Given the description of an element on the screen output the (x, y) to click on. 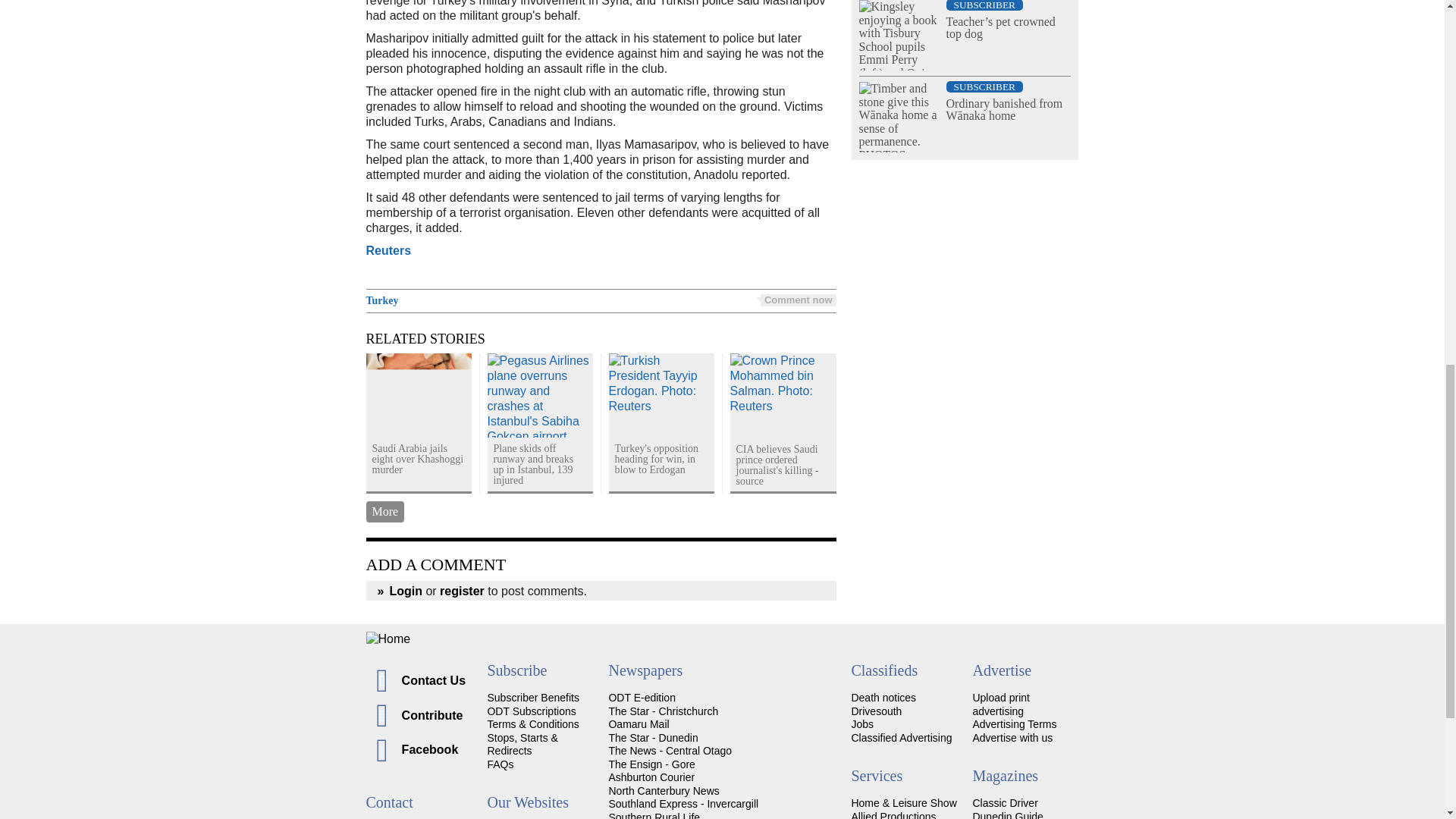
Ways to subscribe to the Otago Daily Times (530, 711)
Get the ODT delivered right to you! (532, 697)
Home (721, 639)
